Given the description of an element on the screen output the (x, y) to click on. 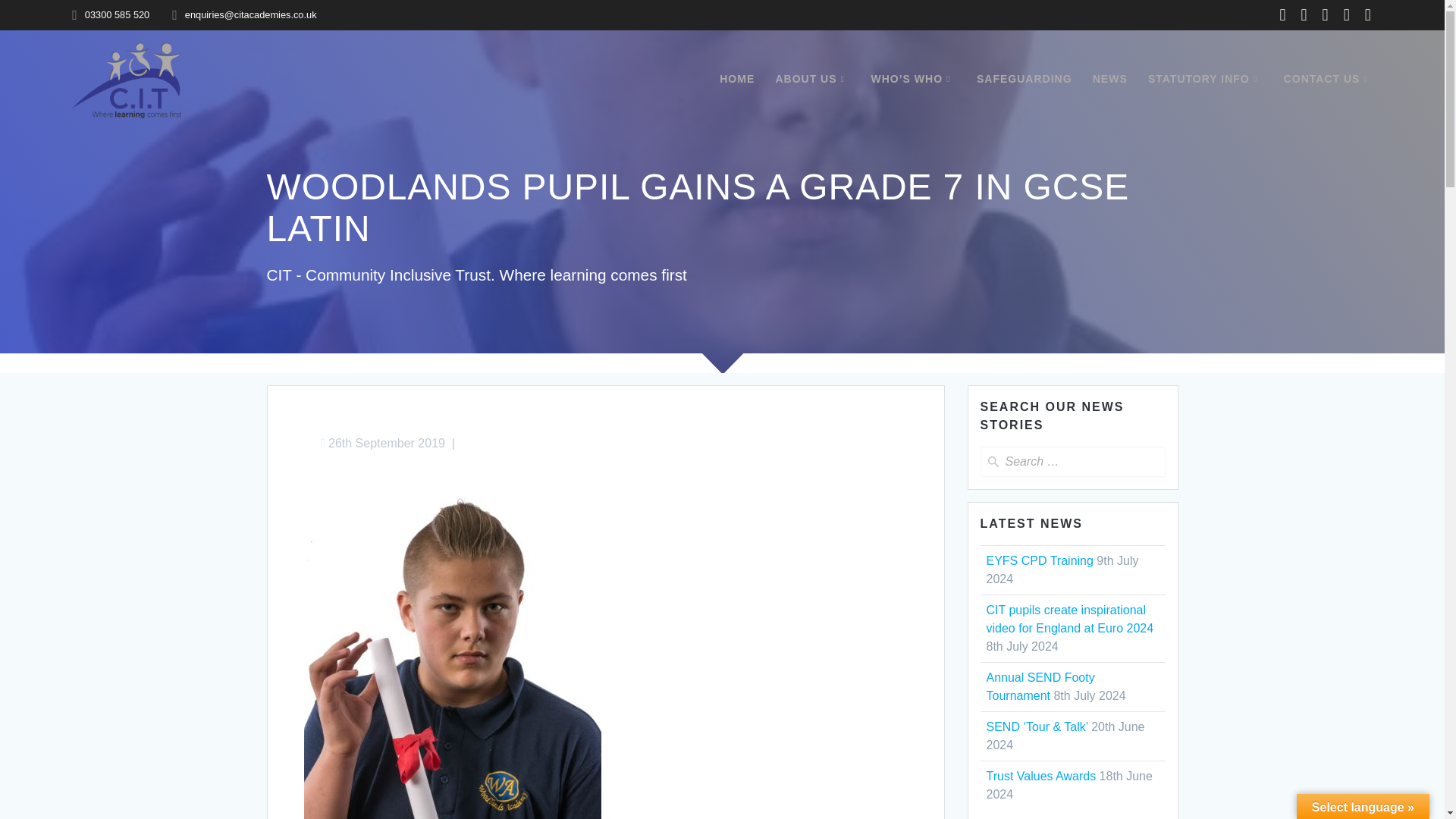
HOME (736, 79)
SAFEGUARDING (1023, 79)
ABOUT US (812, 79)
STATUTORY INFO (1205, 79)
NEWS (1109, 79)
CONTACT US (1329, 79)
